Given the description of an element on the screen output the (x, y) to click on. 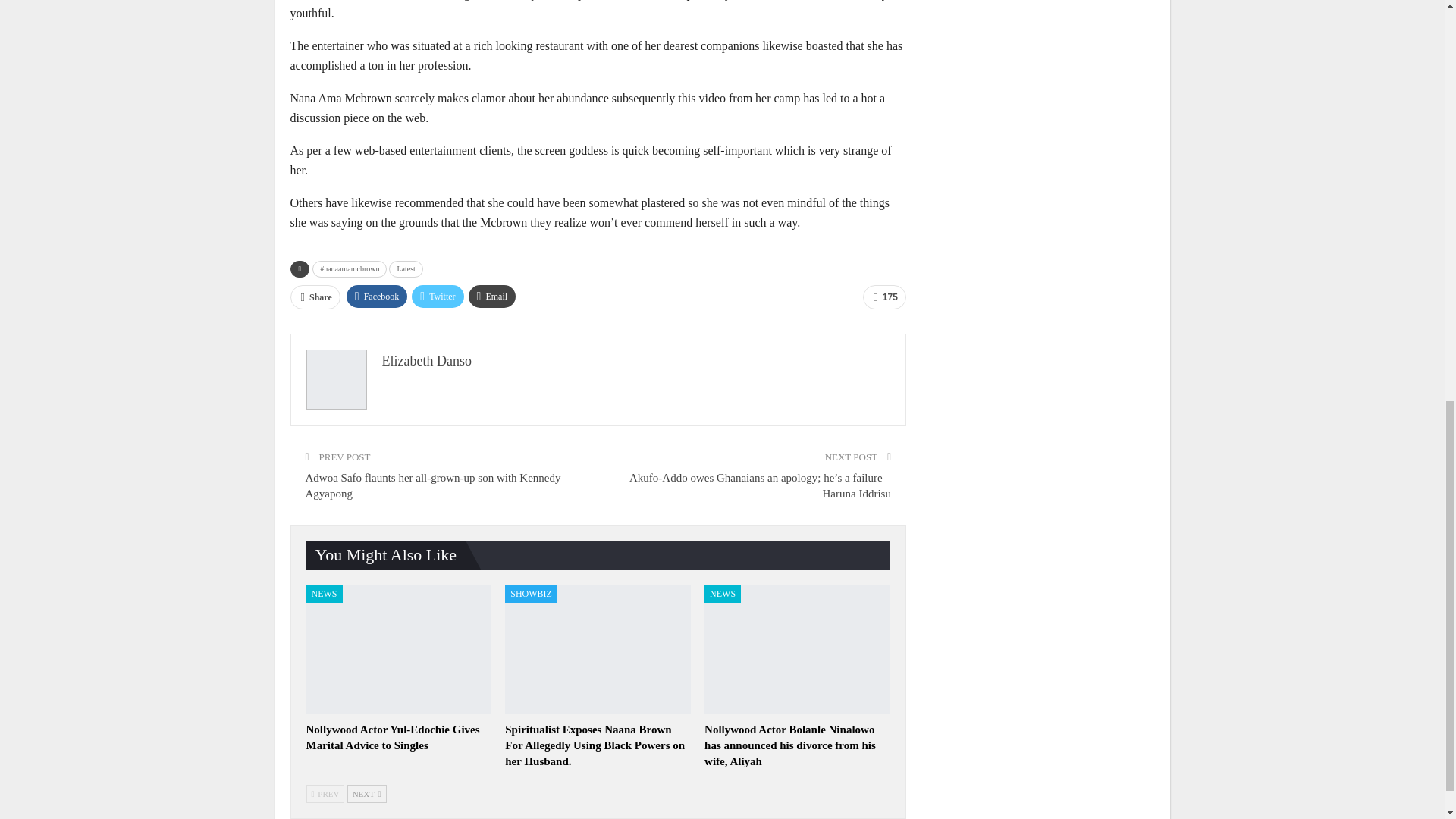
Previous (325, 793)
Latest (405, 269)
Elizabeth Danso (426, 360)
Nollywood Actor Yul-Edochie Gives Marital Advice to Singles (392, 737)
Next (367, 793)
Nollywood Actor Yul-Edochie Gives Marital Advice to Singles (398, 649)
Facebook (376, 296)
Email (492, 296)
